Given the description of an element on the screen output the (x, y) to click on. 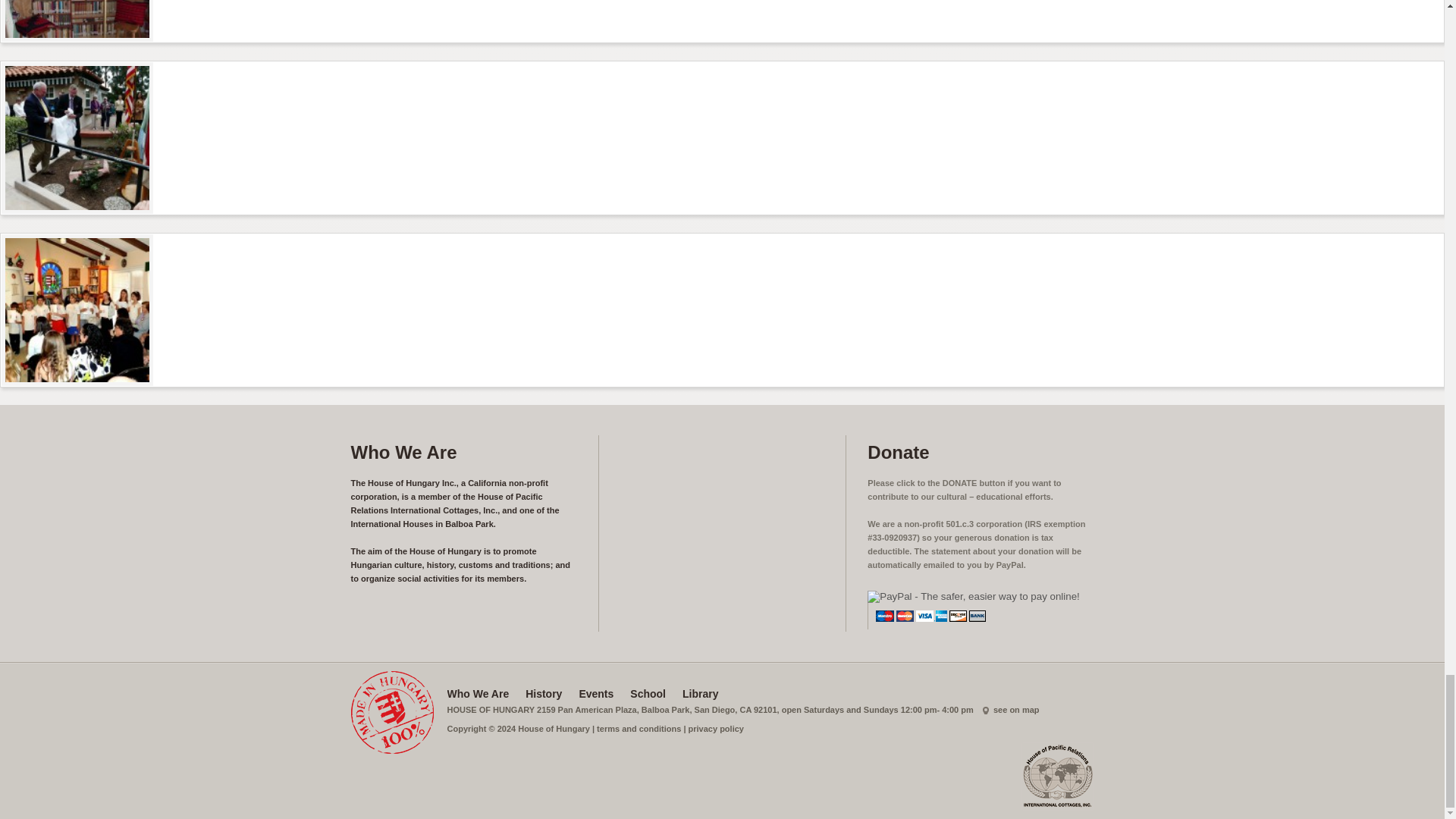
This site was made in Hungary! (391, 711)
